Given the description of an element on the screen output the (x, y) to click on. 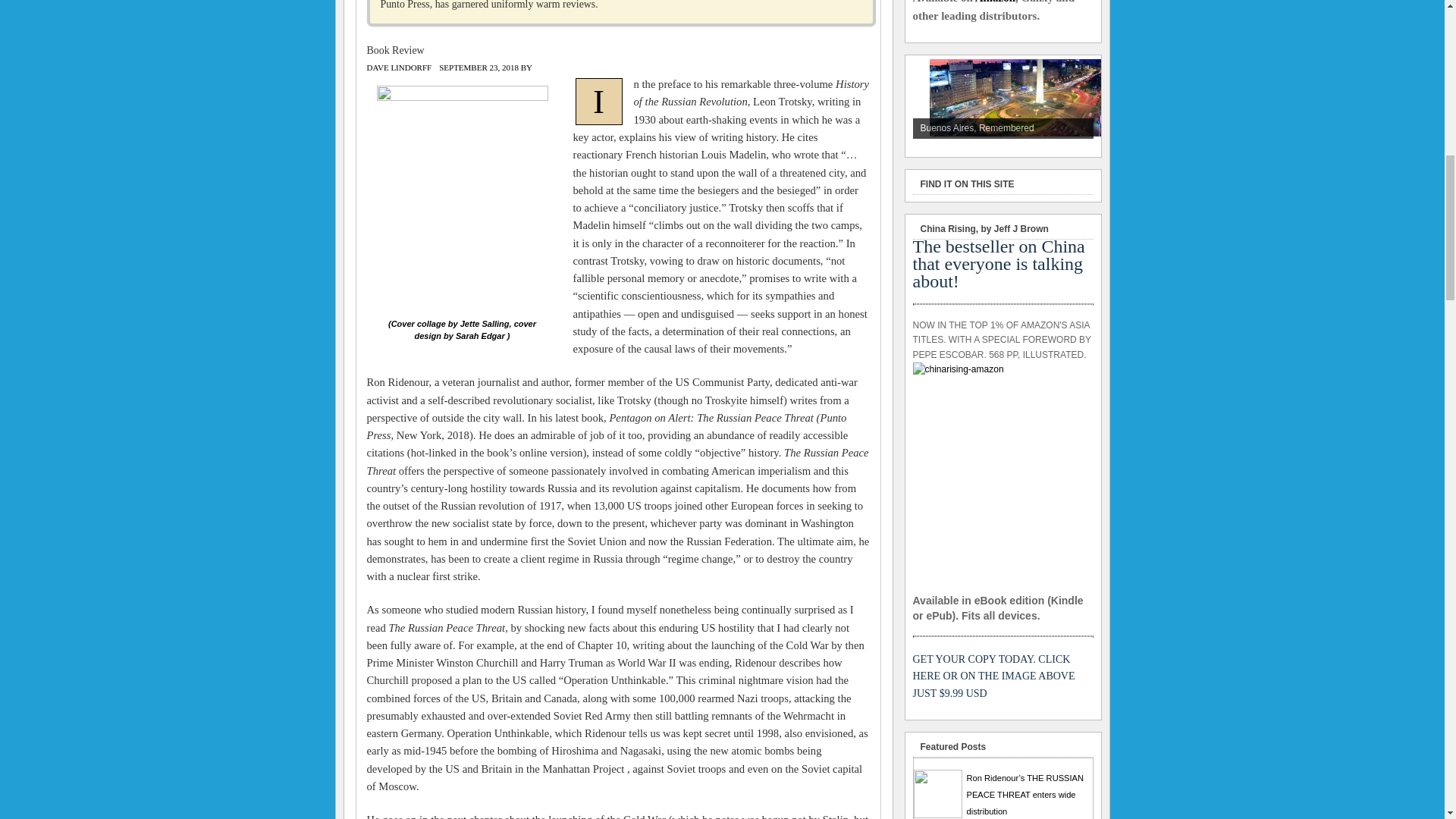
SEPTEMBER 23, 2018 (478, 67)
DAVE LINDORFF (399, 67)
